Given the description of an element on the screen output the (x, y) to click on. 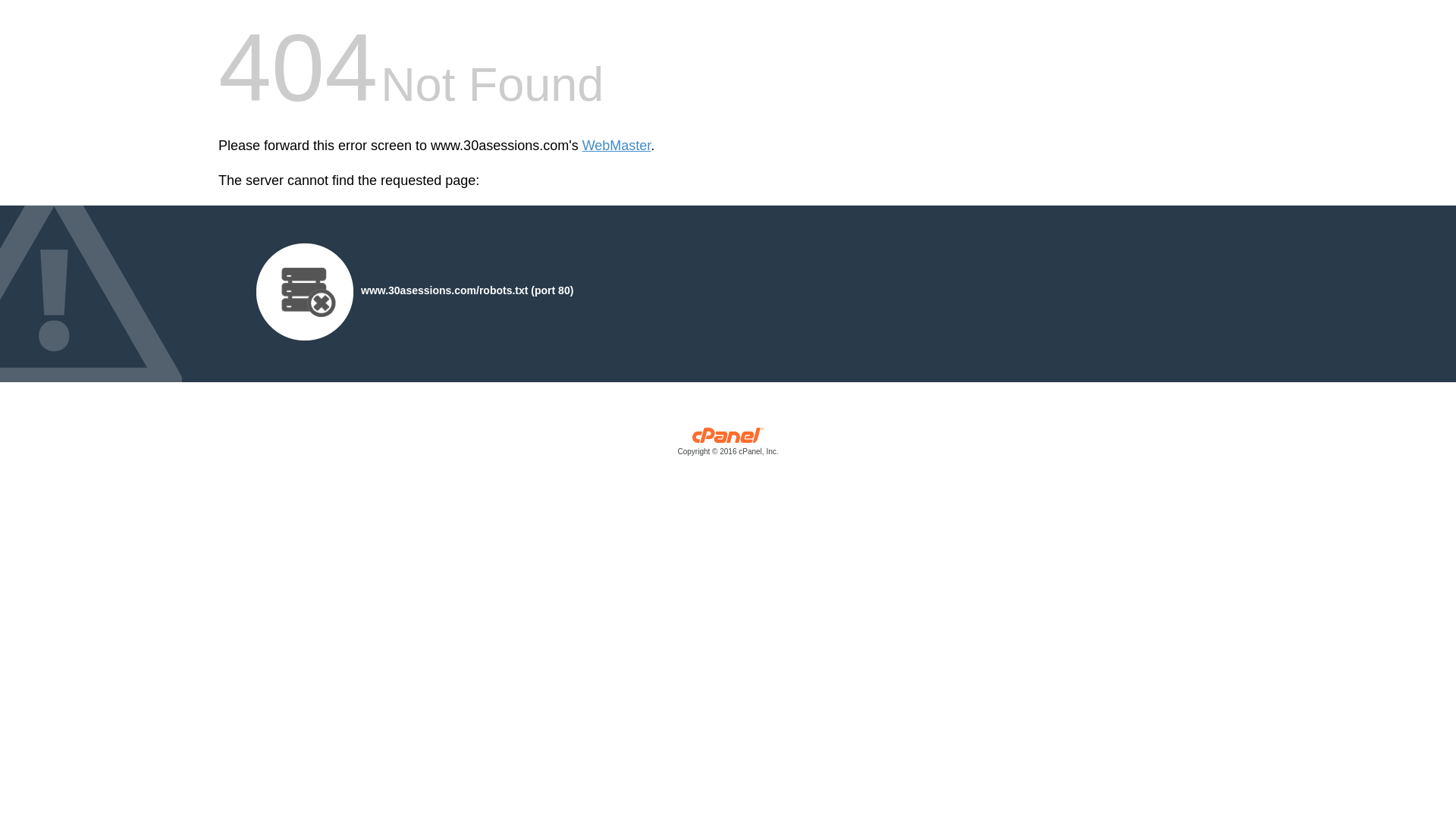
WebMaster Element type: text (616, 145)
